Given the description of an element on the screen output the (x, y) to click on. 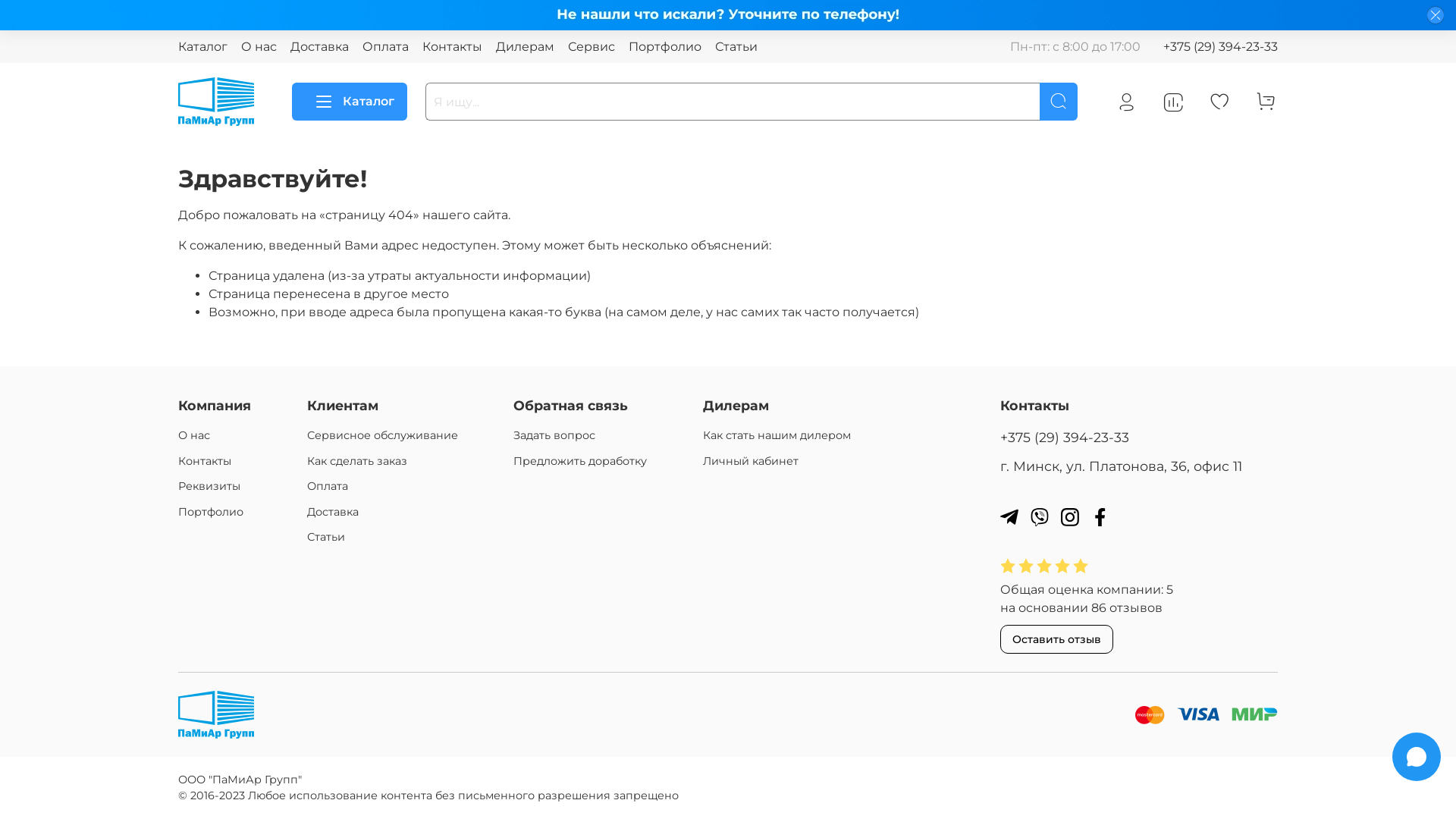
+375 (29) 394-23-33 Element type: text (1064, 437)
+375 (29) 394-23-33 Element type: text (1220, 46)
